Given the description of an element on the screen output the (x, y) to click on. 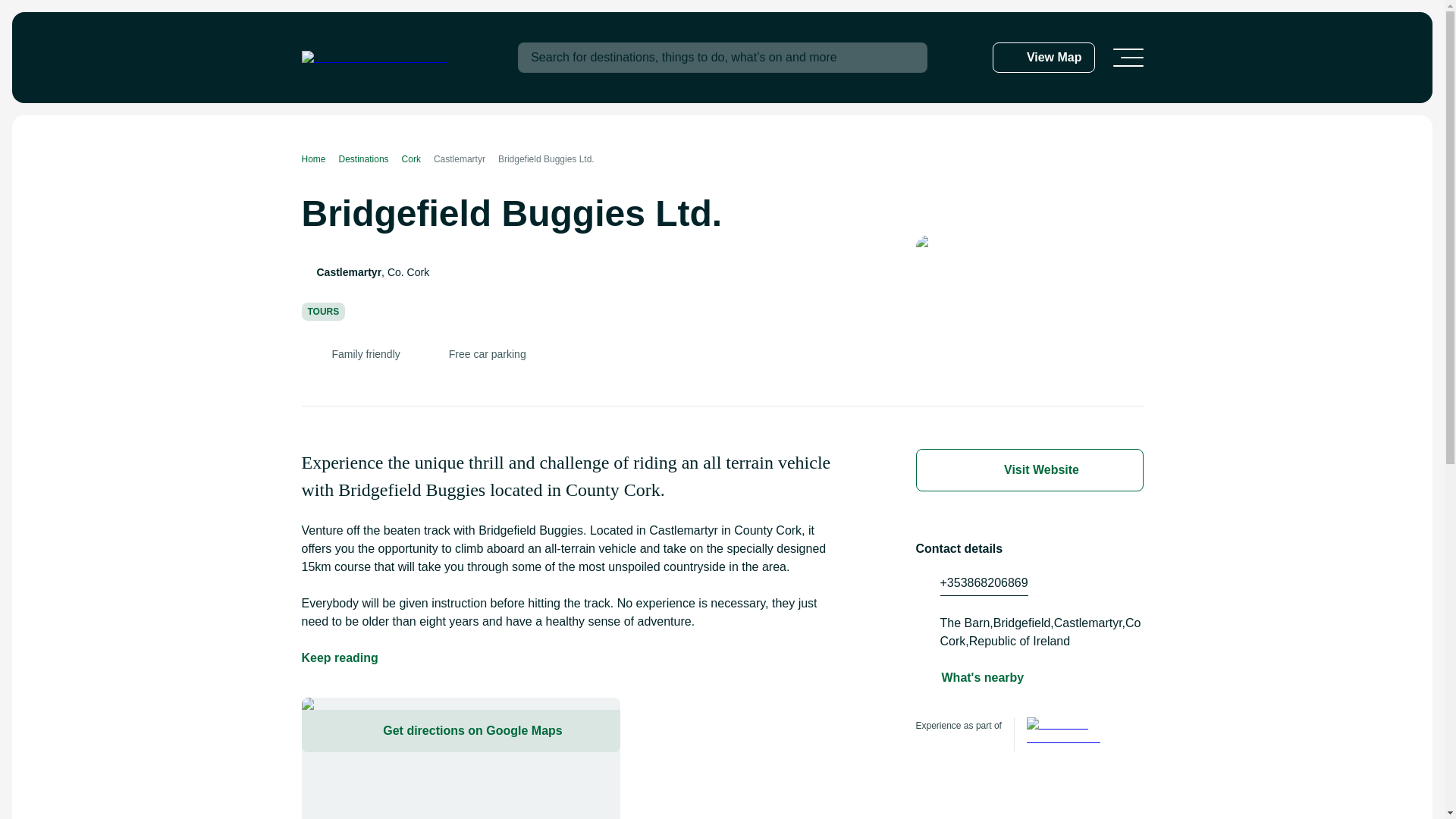
Get directions on Google Maps (460, 758)
Cork (417, 159)
Click to go back to the homepage (374, 57)
Keep reading (339, 658)
Home (320, 159)
Get directions on Google Maps (460, 731)
Destinations (370, 159)
View Map (1043, 57)
Visit Website (1028, 469)
Ireland's Ancient East (1070, 734)
TOURS (323, 311)
What's nearby (983, 678)
